Given the description of an element on the screen output the (x, y) to click on. 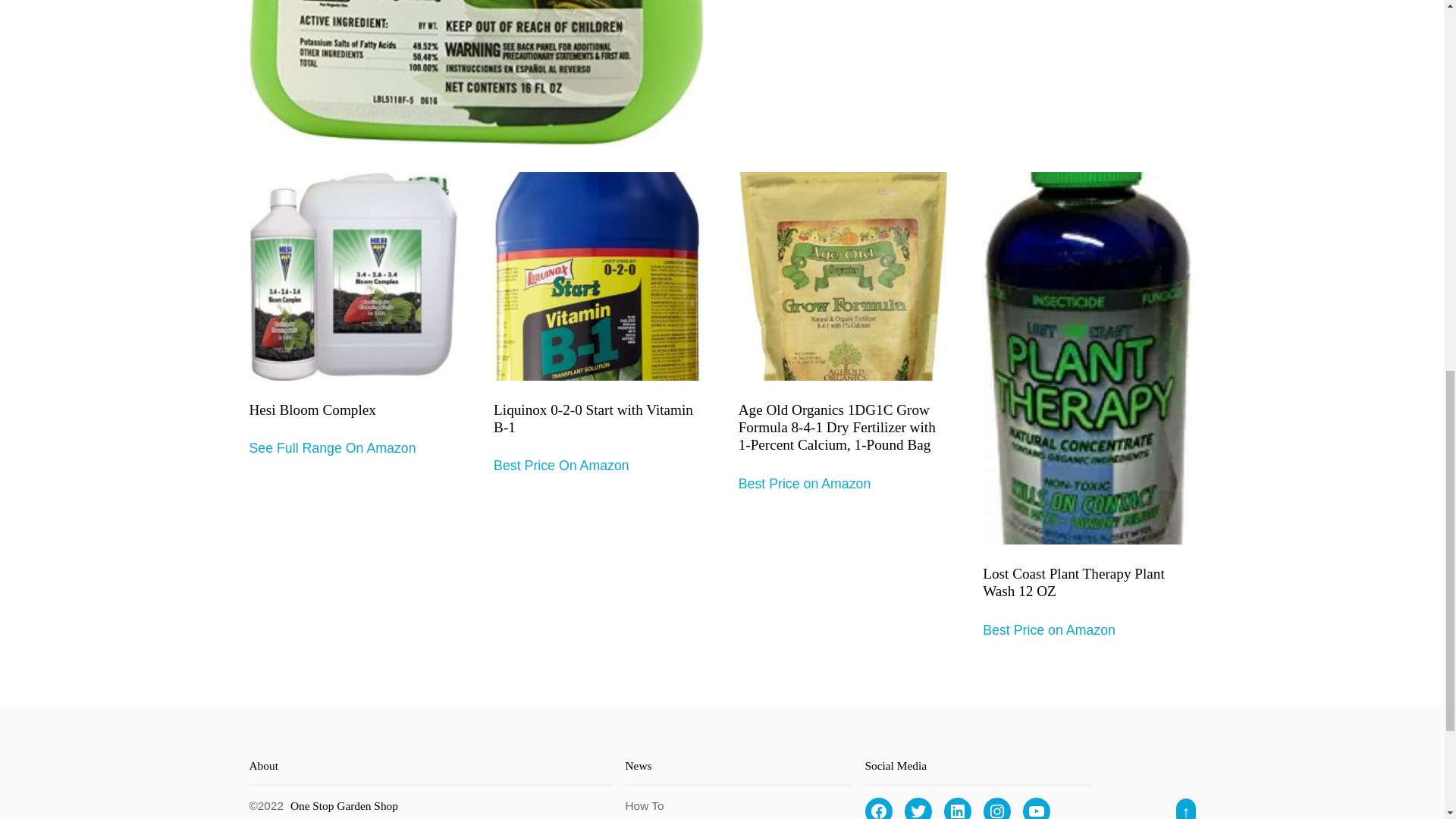
Best Price on Amazon (1048, 629)
LinkedIn (957, 808)
Safer 5118-6 Insect Killing Soap (475, 72)
See Full Range On Amazon (331, 447)
One Stop Garden Shop (343, 805)
Hesi Bloom Complex (352, 313)
Lost Coast Plant Therapy Plant Wash 12 OZ (1086, 404)
Best Price On Amazon (560, 465)
Twitter (917, 808)
Best Price on Amazon (804, 484)
Facebook (877, 808)
How To (643, 805)
Liquinox 0-2-0 Start with Vitamin B-1 (597, 322)
